Given the description of an element on the screen output the (x, y) to click on. 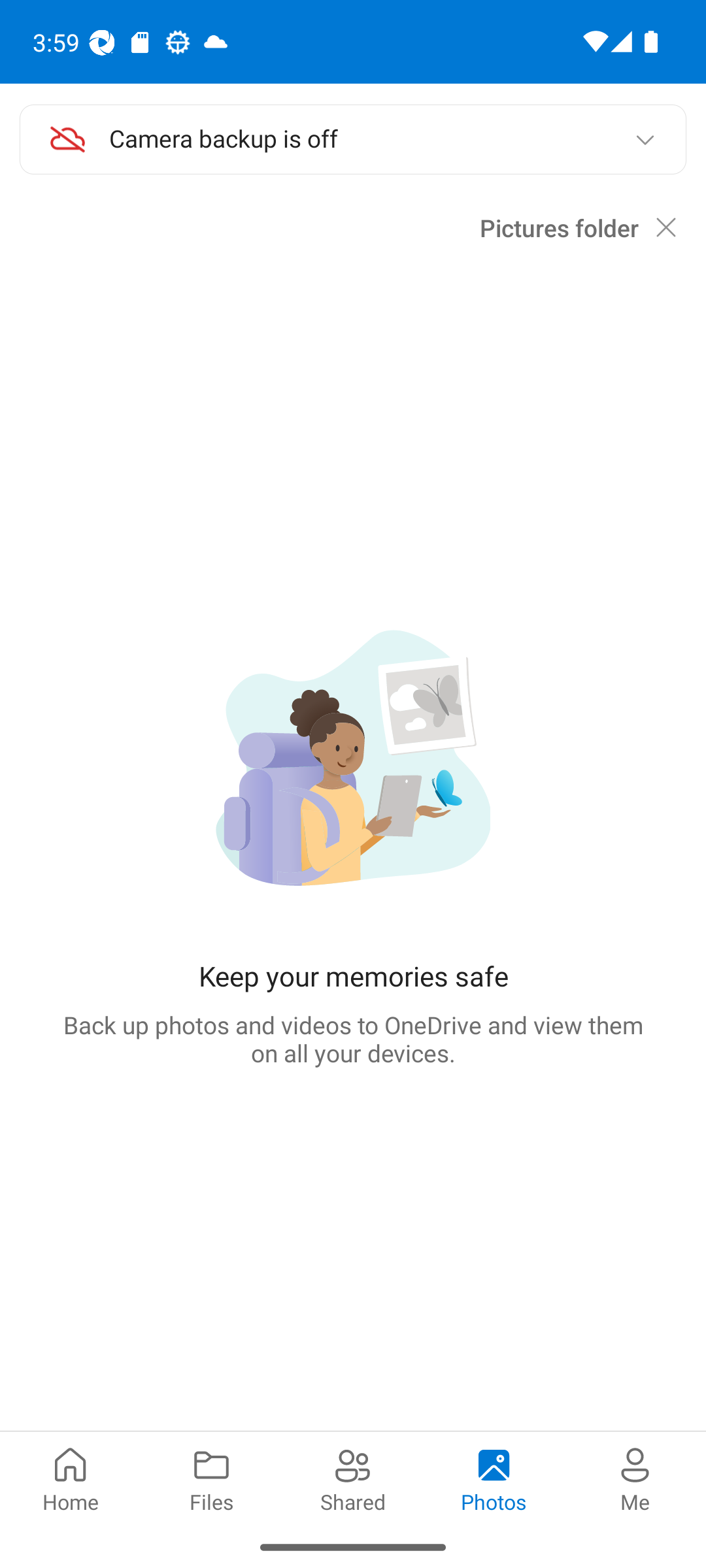
Expand camera status banner (645, 139)
Home pivot Home (70, 1478)
Files pivot Files (211, 1478)
Shared pivot Shared (352, 1478)
Me pivot Me (635, 1478)
